Given the description of an element on the screen output the (x, y) to click on. 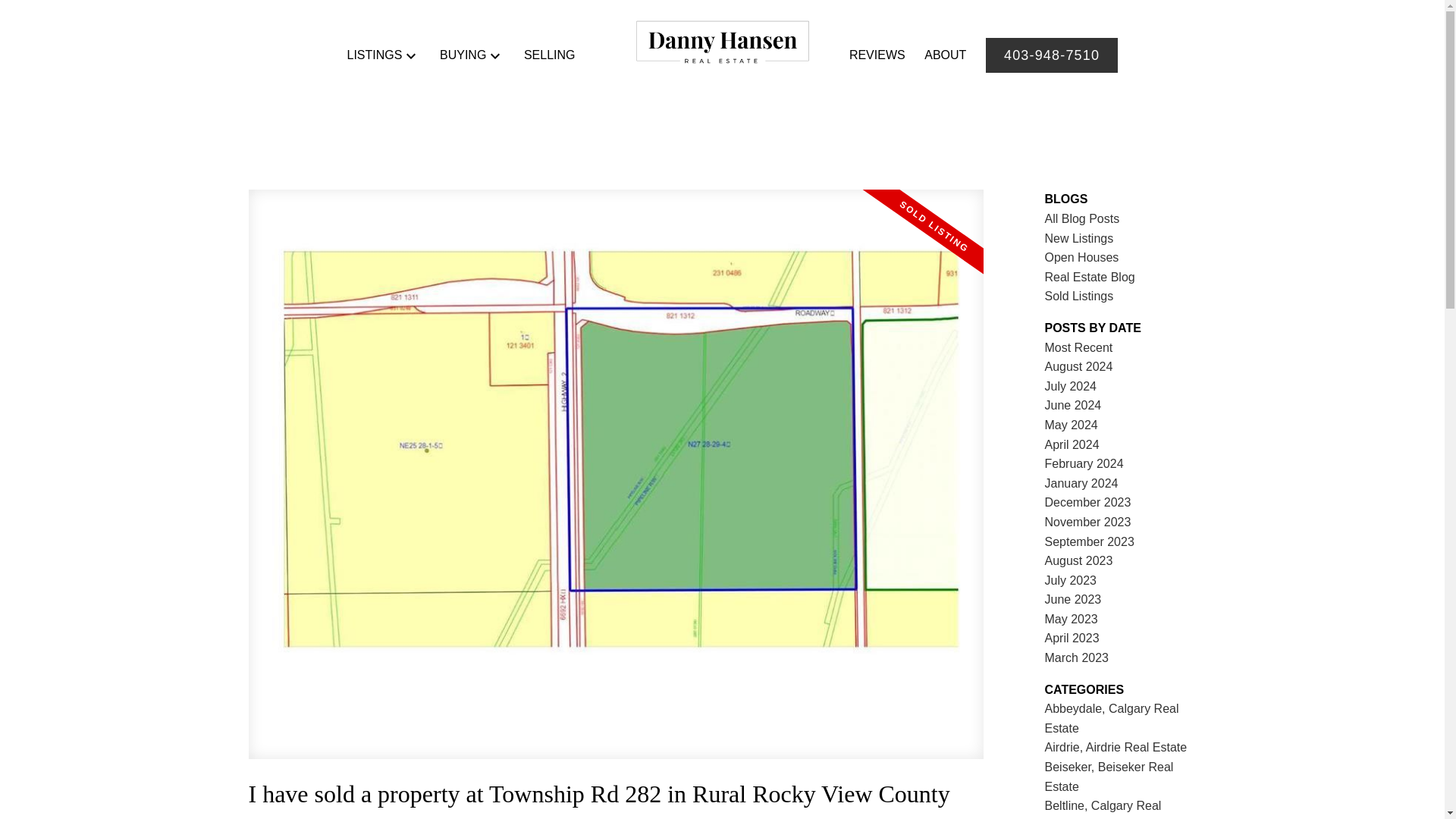
SELLING (549, 55)
ABOUT (945, 55)
403-948-7510 (1051, 54)
REVIEWS (876, 55)
BUYING (462, 55)
LISTINGS (373, 55)
